Given the description of an element on the screen output the (x, y) to click on. 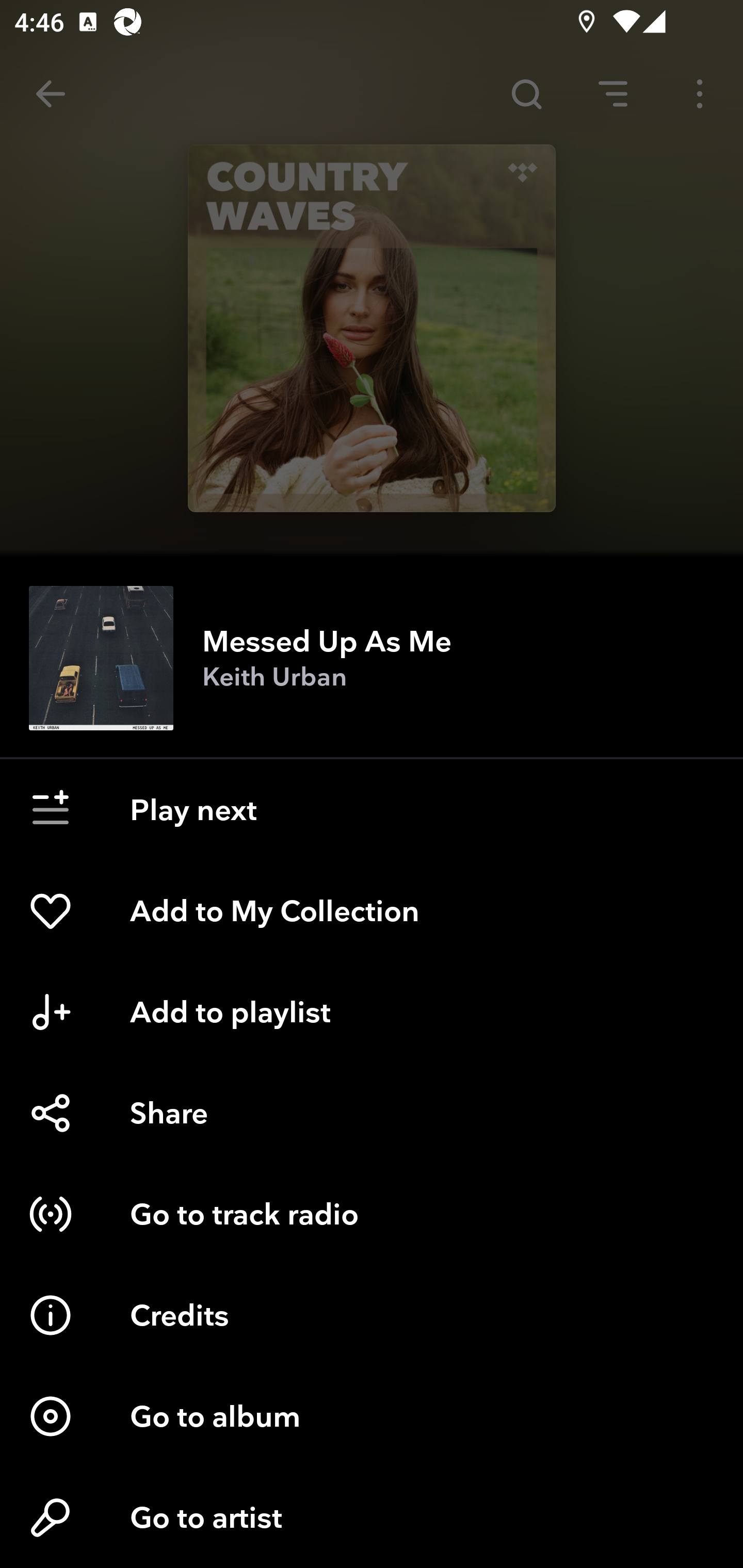
Play next (371, 809)
Add to My Collection (371, 910)
Add to playlist (371, 1012)
Share (371, 1113)
Go to track radio (371, 1214)
Credits (371, 1315)
Go to album (371, 1416)
Go to artist (371, 1517)
